Given the description of an element on the screen output the (x, y) to click on. 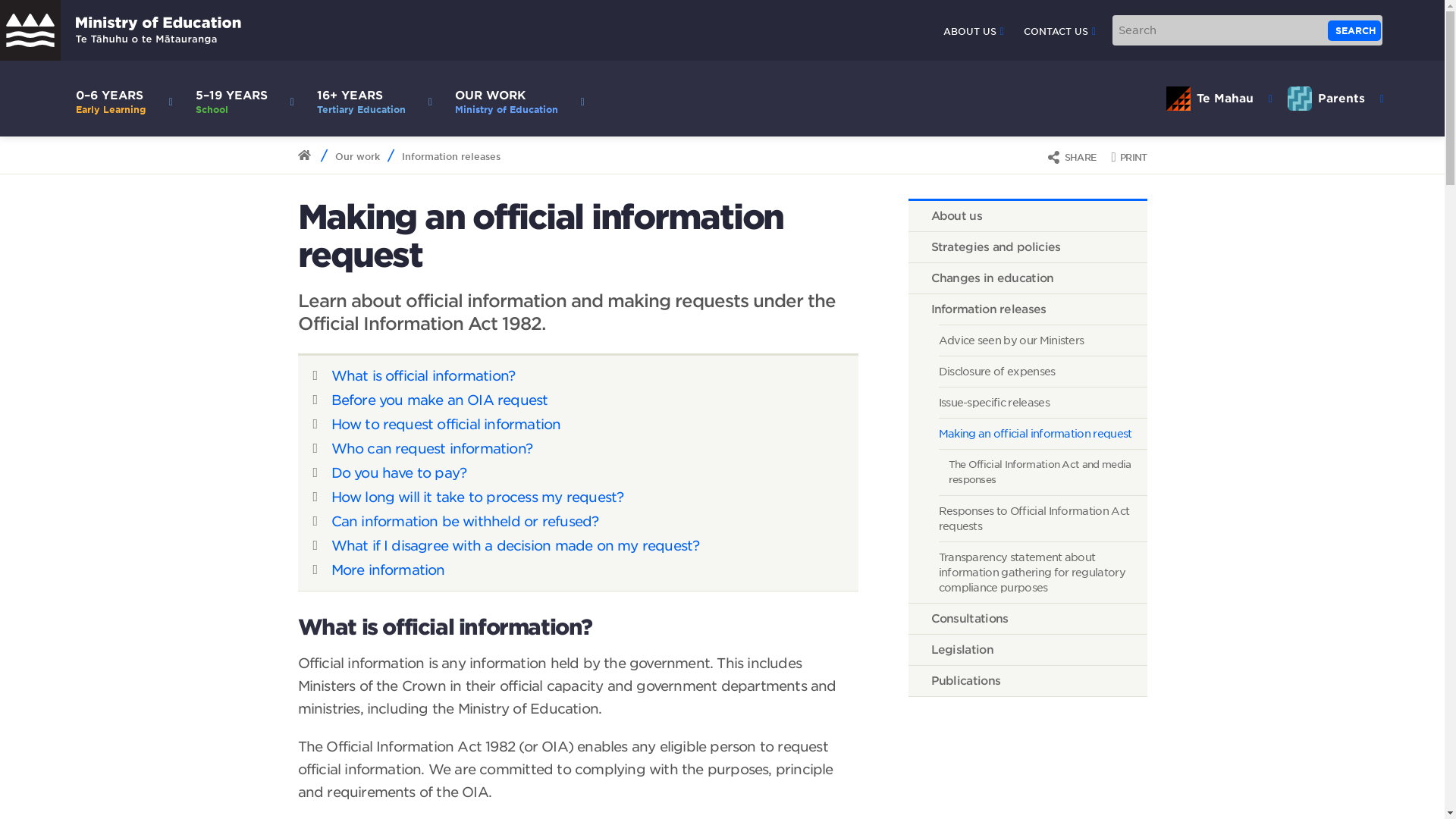
Link to Te Mahau website (1219, 98)
Strategies and policies (1027, 246)
Parents (1335, 98)
Link to Parents website (1335, 98)
ABOUT US (973, 31)
CONTACT US (1059, 31)
Link to Ministry of Education New Zealand home page. (515, 98)
About us (120, 30)
PRINT (1027, 215)
Our work - Ministry of Education (1128, 156)
SHARE (515, 98)
SEARCH (1071, 156)
Te Mahau (1353, 30)
